Given the description of an element on the screen output the (x, y) to click on. 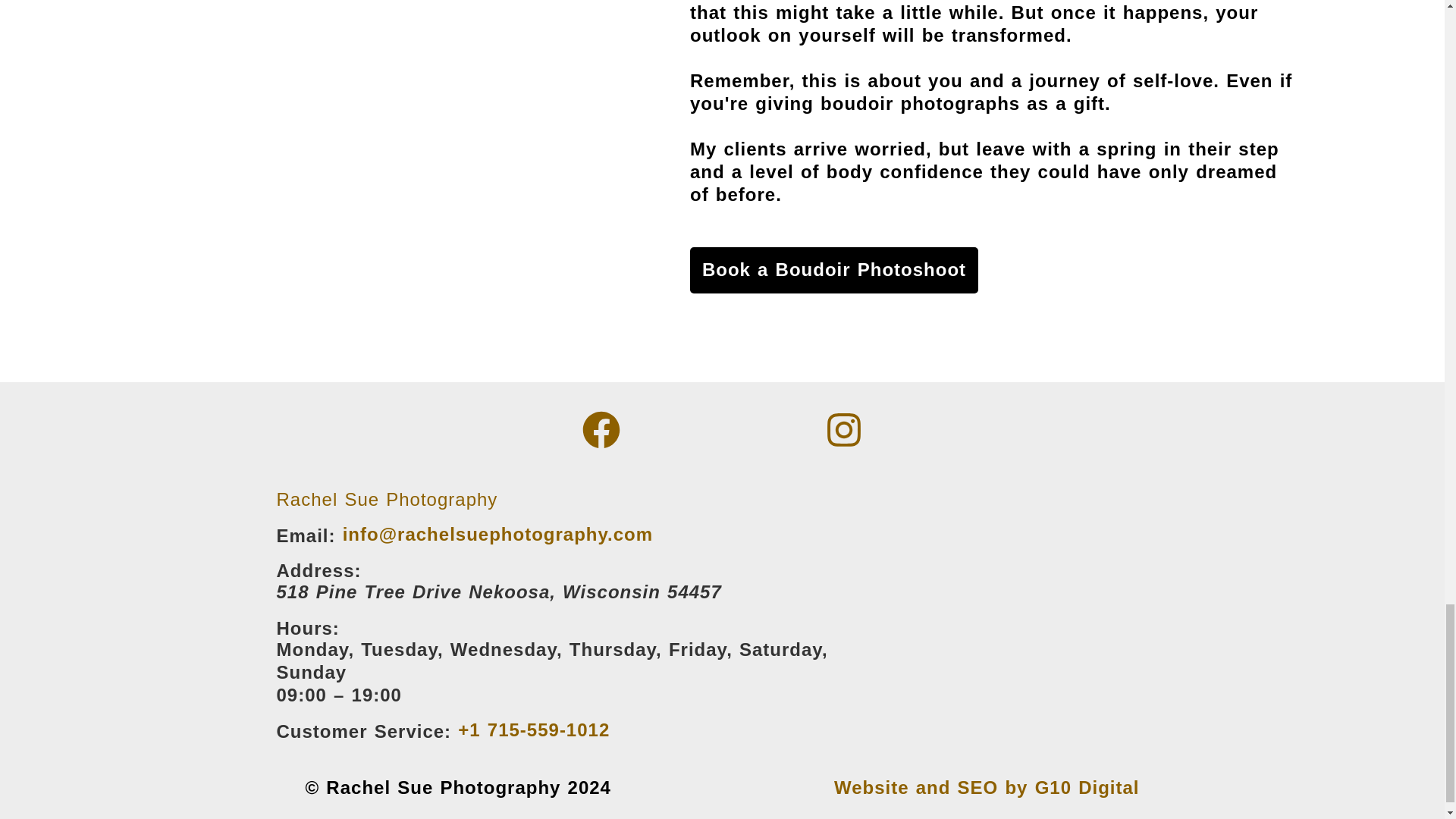
Rachel Sue Photography (386, 498)
Book a Boudoir Photoshoot (834, 270)
Website and SEO by G10 Digital (987, 787)
